Given the description of an element on the screen output the (x, y) to click on. 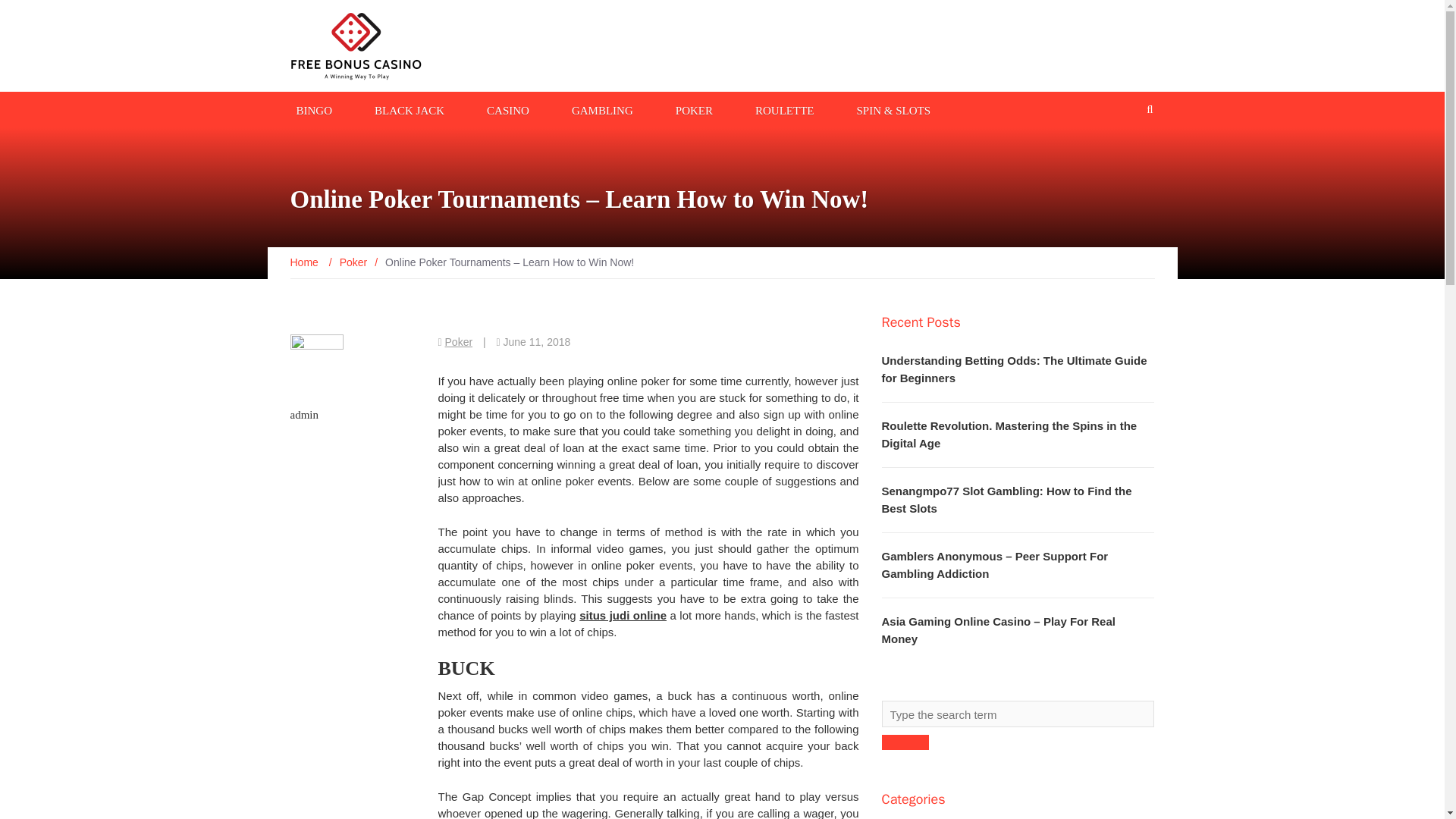
admin (303, 414)
POKER (694, 109)
Understanding Betting Odds: The Ultimate Guide for Beginners (1013, 368)
Poker (353, 262)
ROULETTE (784, 109)
GAMBLING (602, 109)
BLACK JACK (408, 109)
BINGO (313, 109)
CASINO (507, 109)
Poker (459, 341)
